Given the description of an element on the screen output the (x, y) to click on. 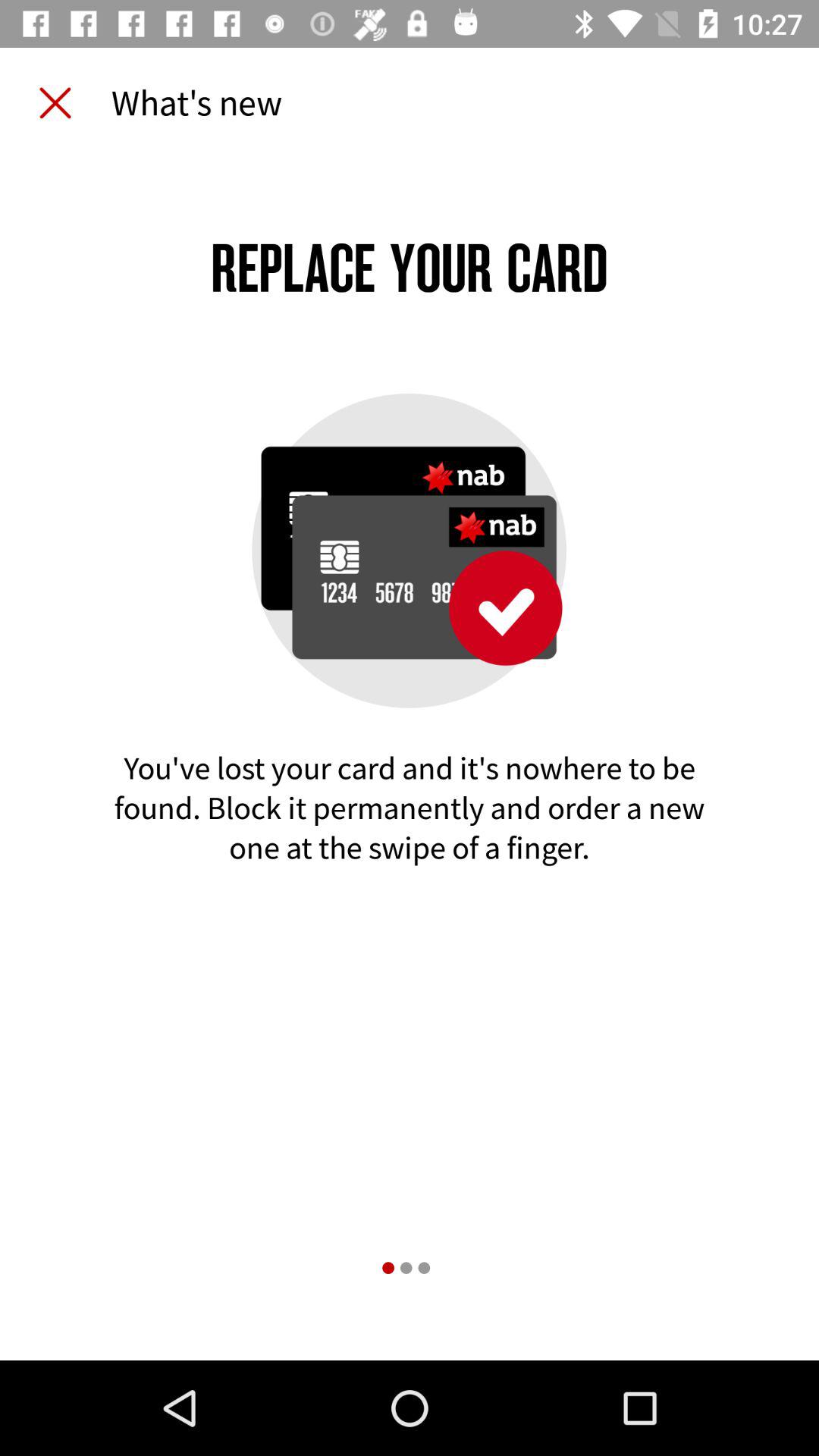
turn on item above replace your card (55, 103)
